Given the description of an element on the screen output the (x, y) to click on. 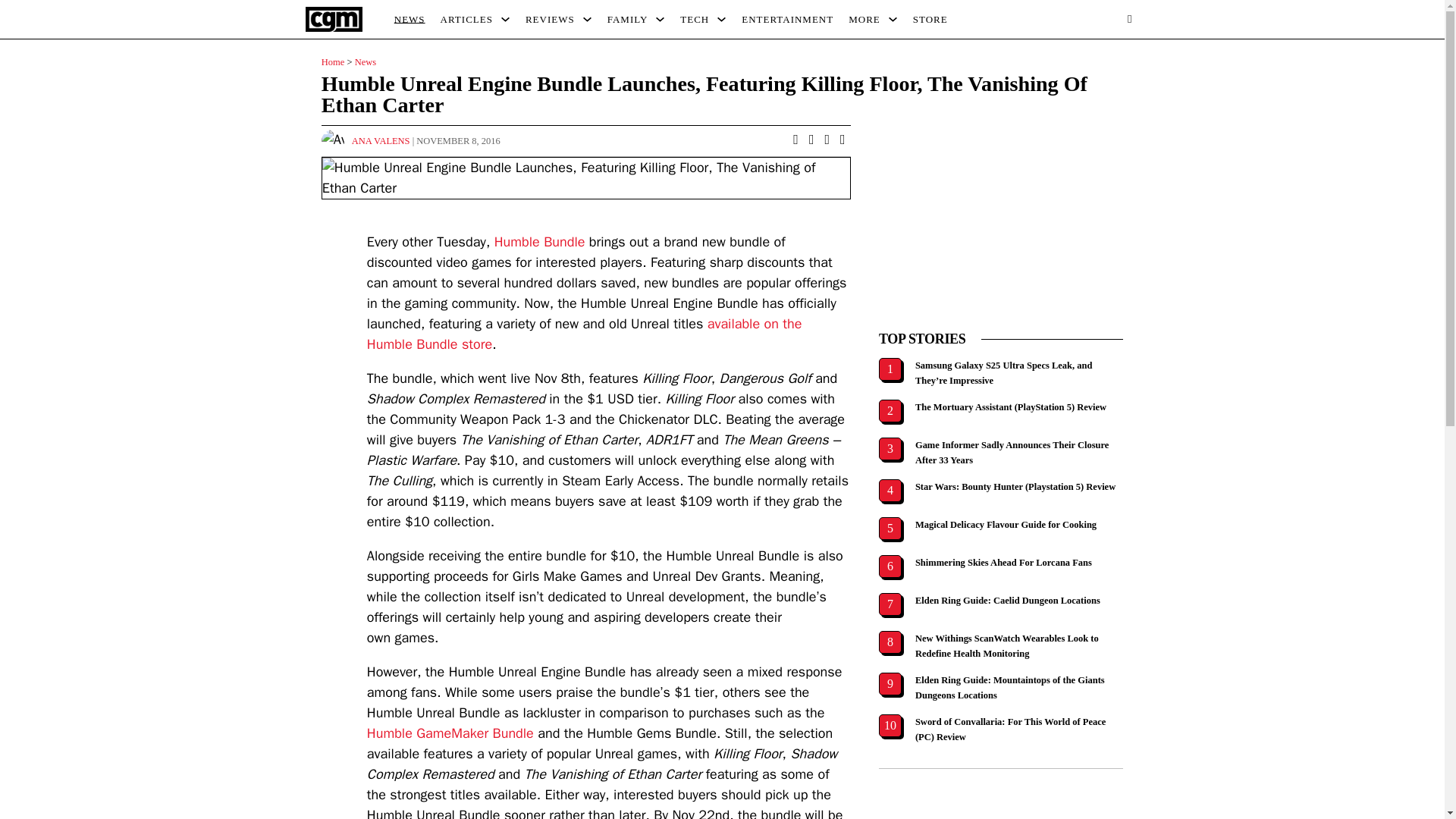
Ana Valens (381, 140)
